Given the description of an element on the screen output the (x, y) to click on. 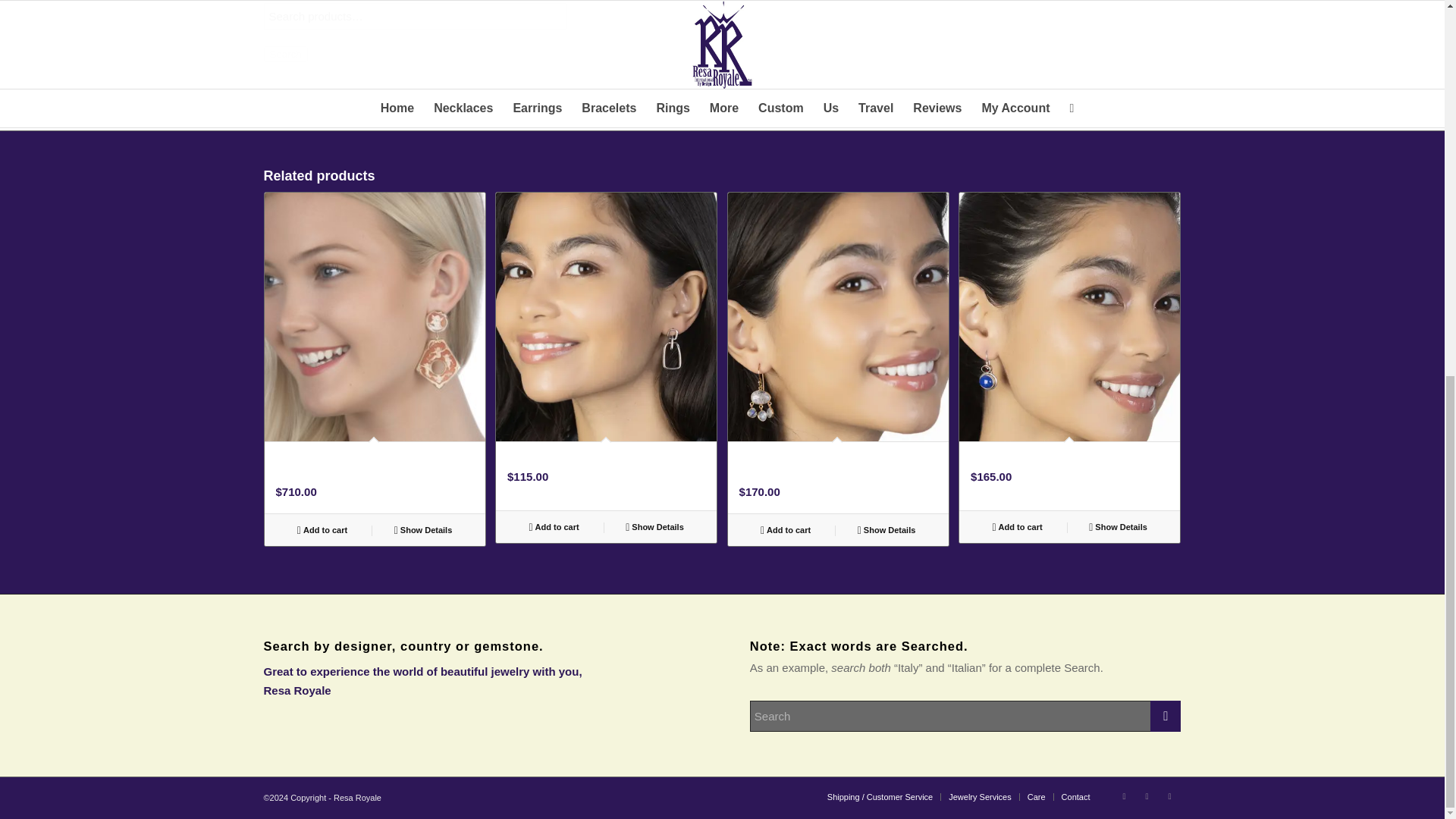
Click to start search (1165, 716)
Pinterest (1169, 795)
Add to cart (321, 529)
Add to cart (785, 529)
Show Details (422, 529)
Show Details (654, 526)
Instagram (1146, 795)
Show Details (1118, 526)
Facebook (1124, 795)
Add to cart (1016, 526)
